Given the description of an element on the screen output the (x, y) to click on. 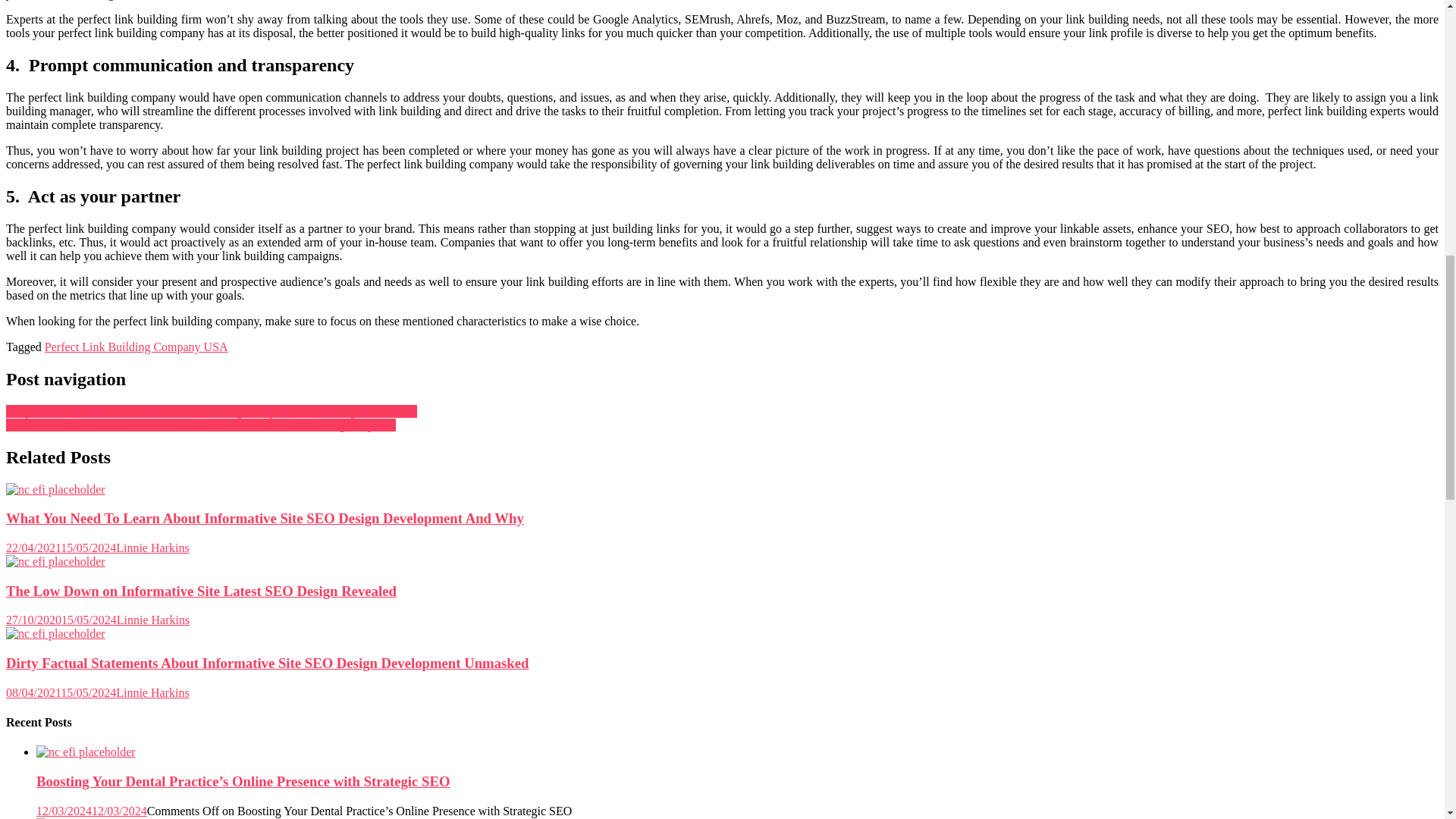
Linnie Harkins (152, 547)
Linnie Harkins (152, 619)
The Low Down on Informative Site Latest SEO Design Revealed (54, 561)
